Given the description of an element on the screen output the (x, y) to click on. 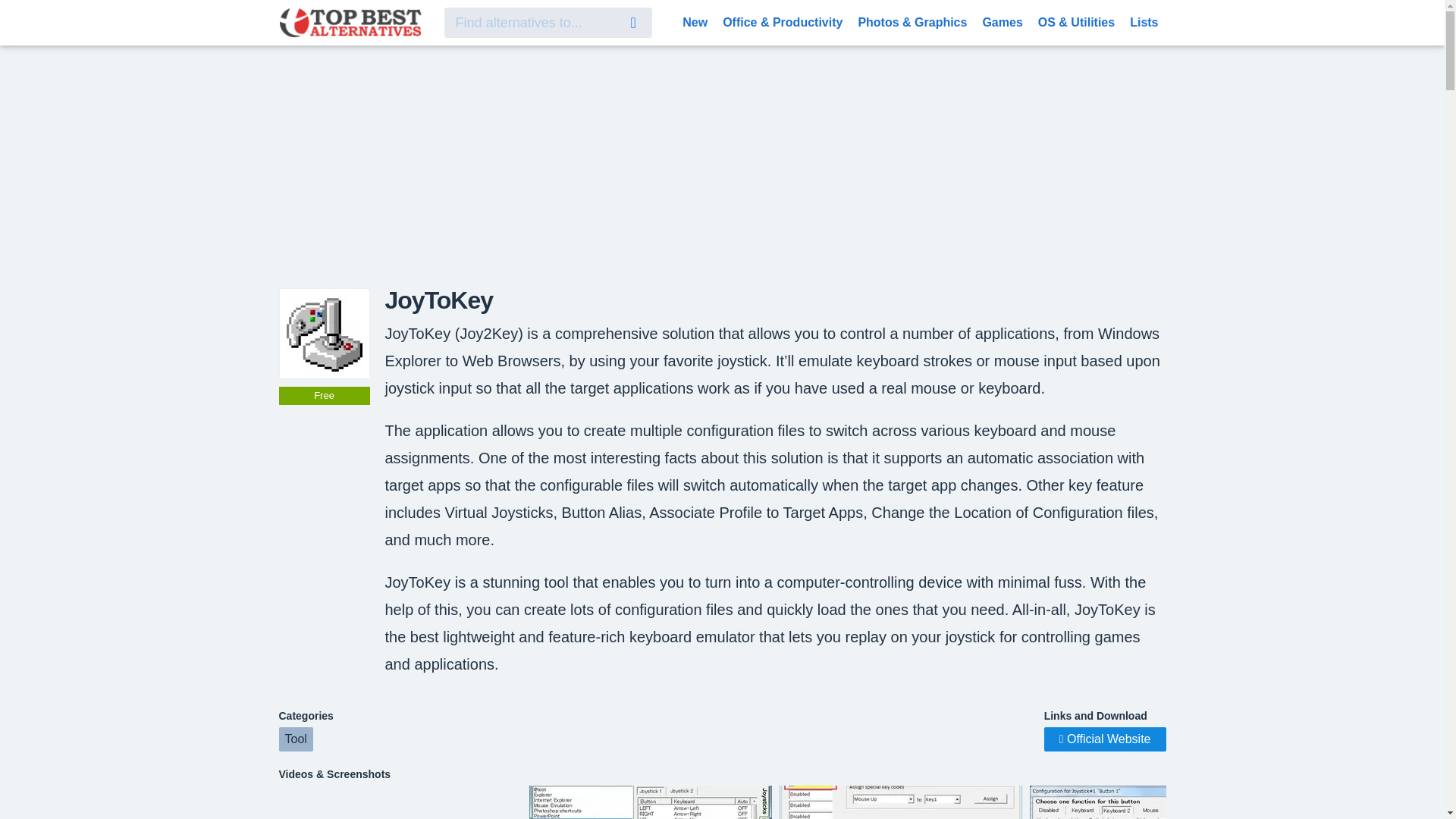
Lists (1144, 21)
Official Website (1104, 739)
Tool (296, 739)
Games (1001, 21)
New (694, 21)
